Given the description of an element on the screen output the (x, y) to click on. 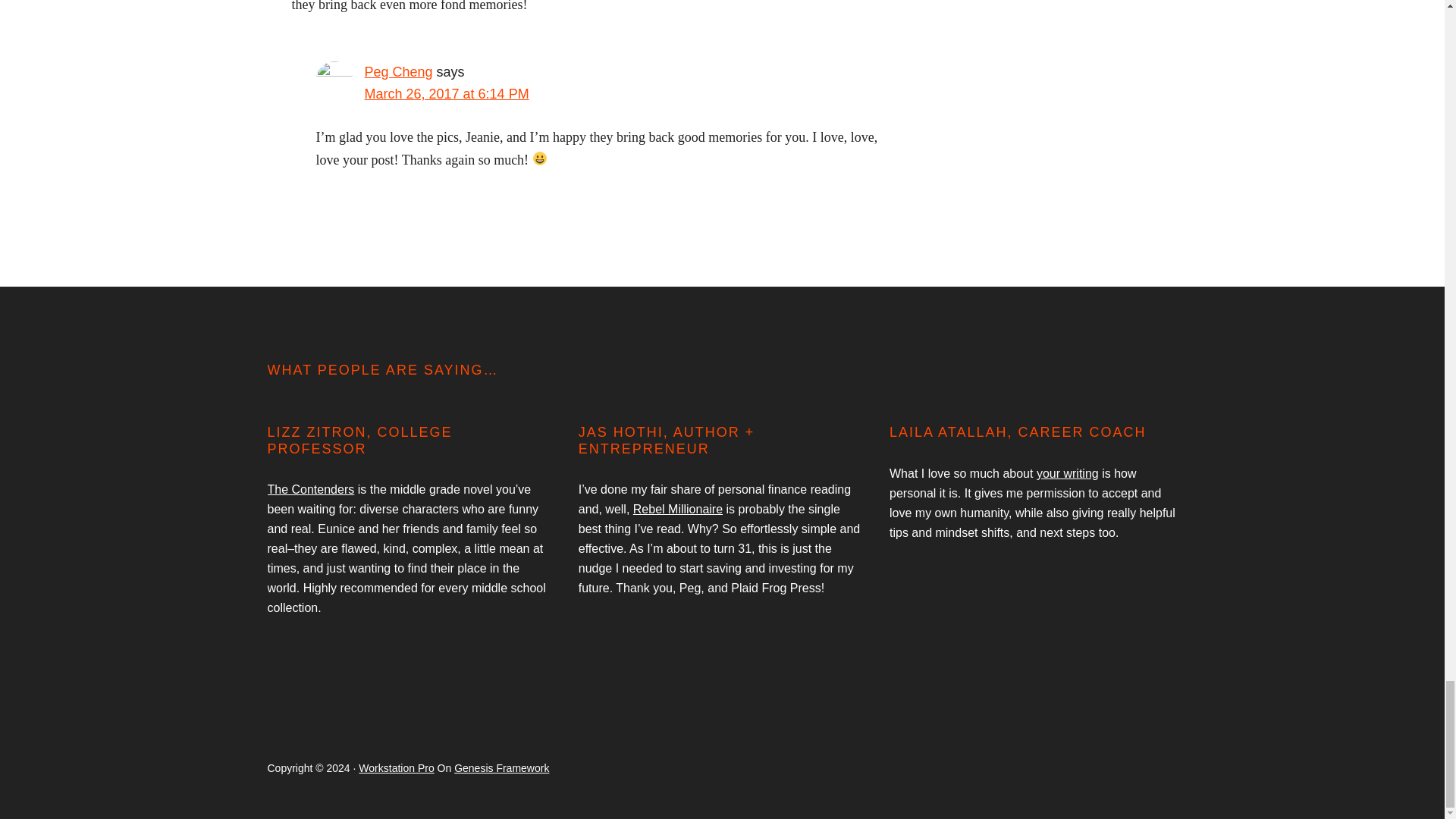
Peg Cheng (398, 71)
March 26, 2017 at 6:14 PM (446, 93)
